Given the description of an element on the screen output the (x, y) to click on. 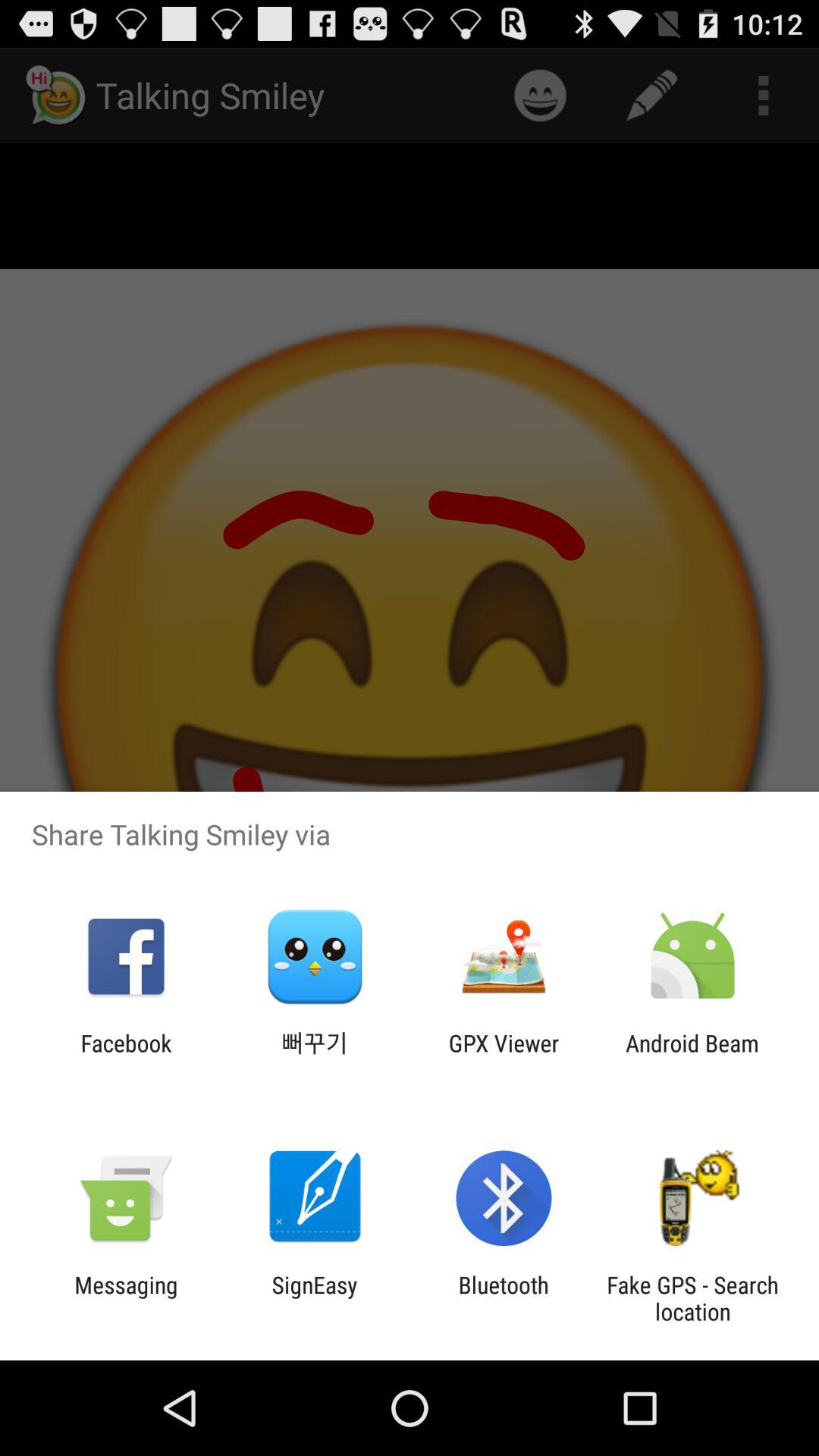
choose the fake gps search item (692, 1298)
